Given the description of an element on the screen output the (x, y) to click on. 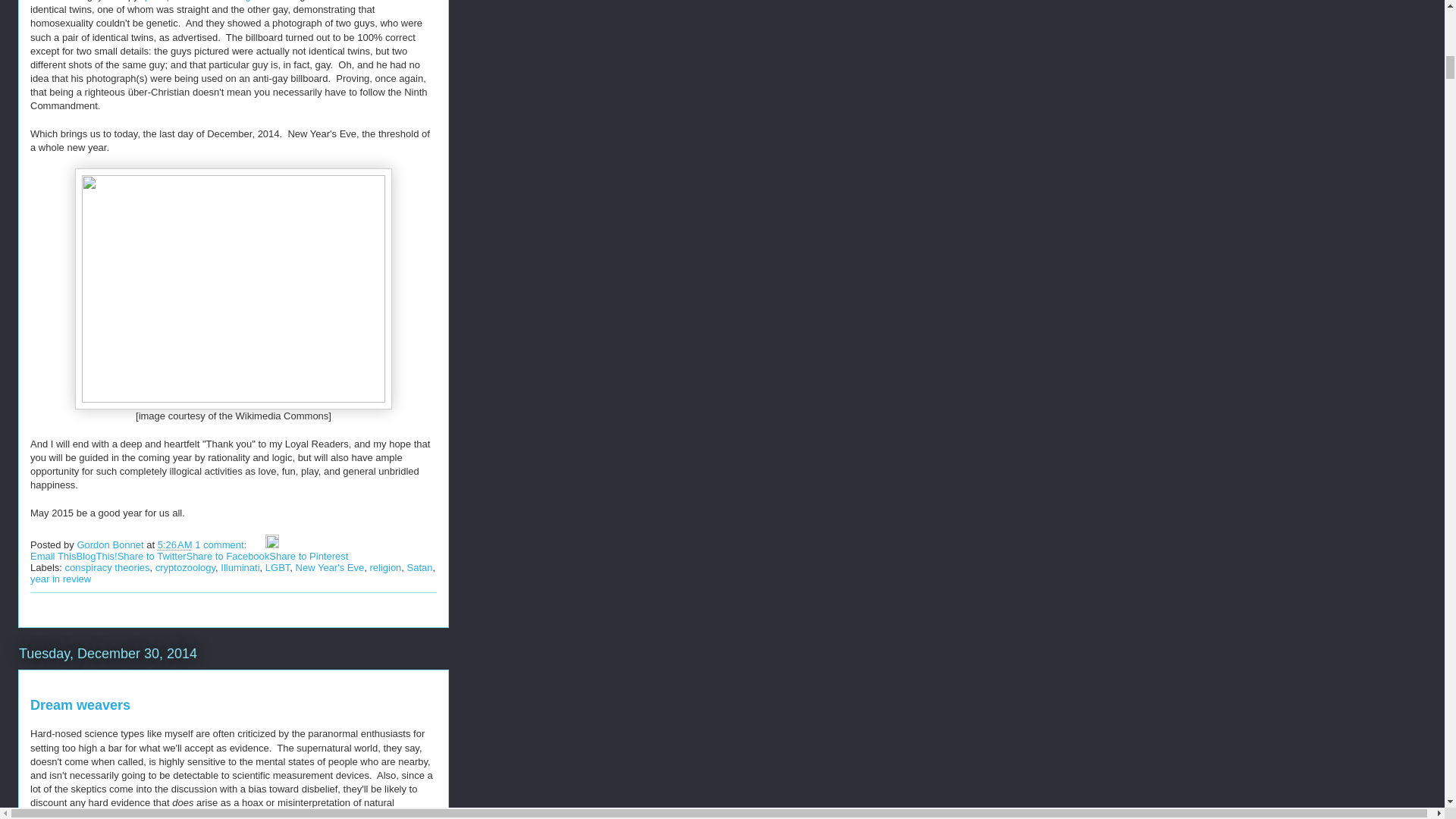
Share to Twitter (151, 555)
Satan (419, 567)
BlogThis! (95, 555)
New Year's Eve (330, 567)
LGBT (276, 567)
author profile (112, 544)
put up a billboard in Virginia (205, 0)
BlogThis! (95, 555)
Share to Twitter (151, 555)
permanent link (174, 544)
Share to Facebook (227, 555)
Dream weavers (80, 704)
year in review (60, 578)
Share to Facebook (227, 555)
1 comment: (221, 544)
